Given the description of an element on the screen output the (x, y) to click on. 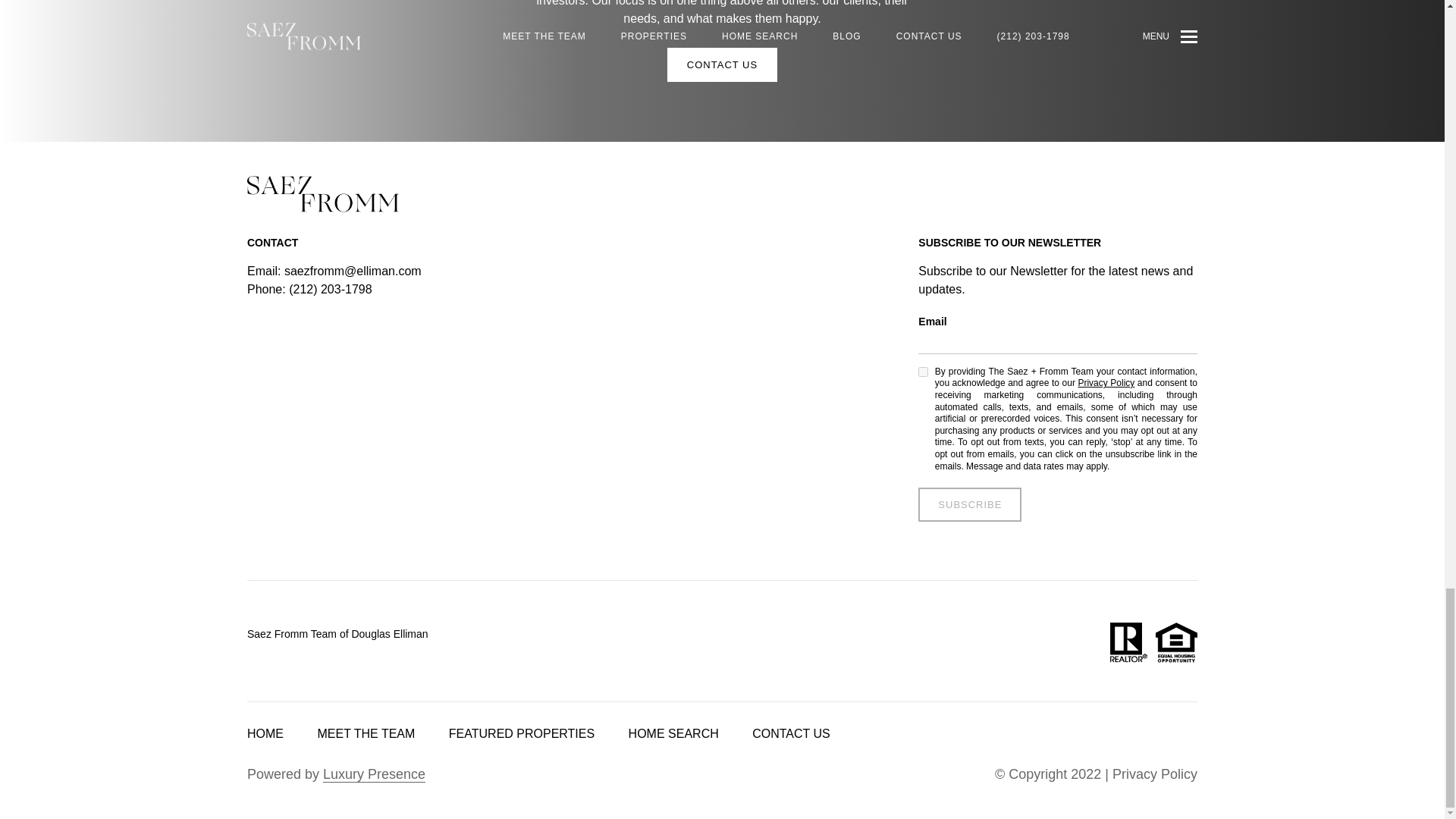
on (923, 371)
Subscribe (970, 504)
